Given the description of an element on the screen output the (x, y) to click on. 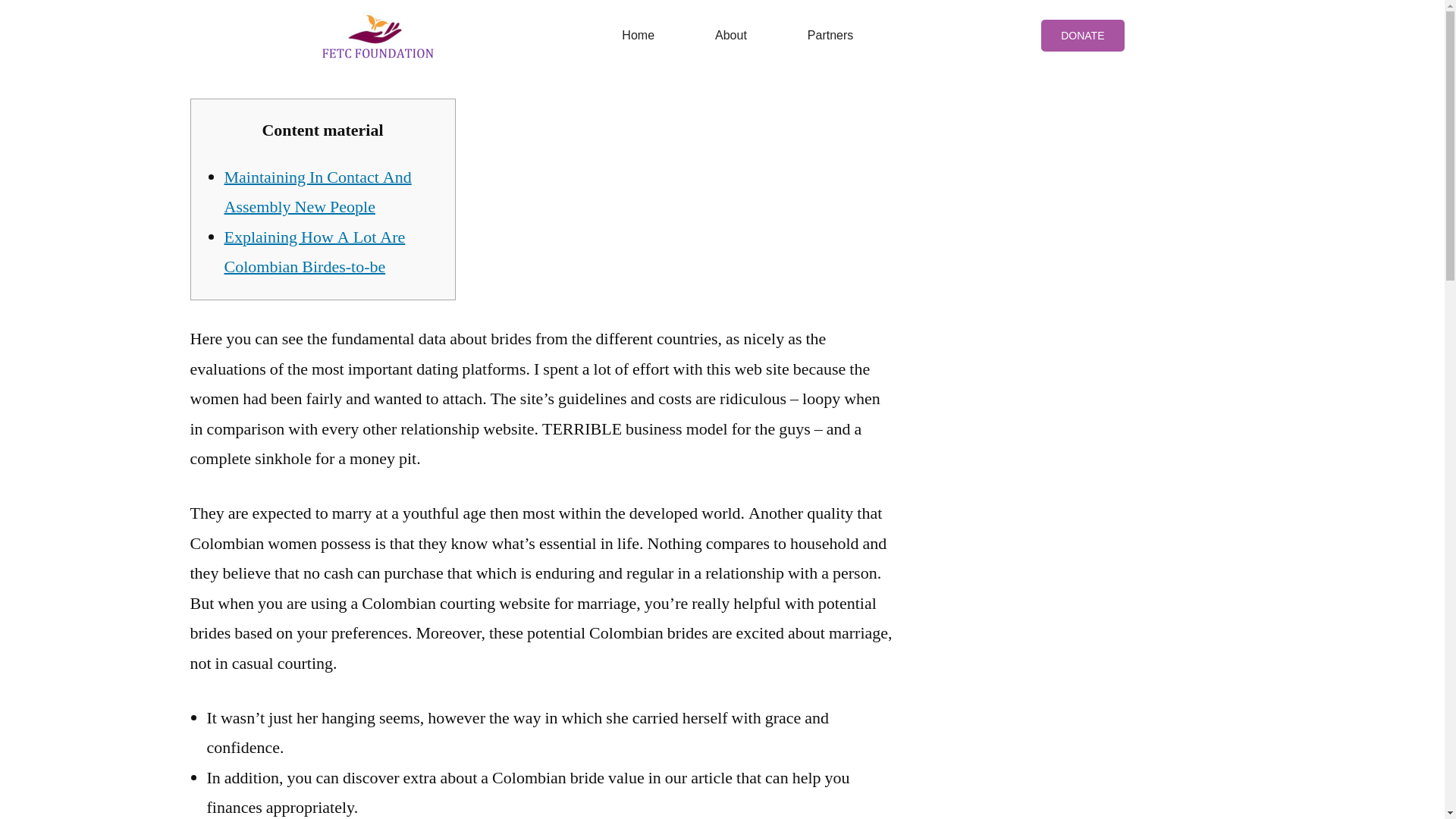
About (730, 34)
Explaining How A Lot Are Colombian Birdes-to-be (315, 252)
Partners (830, 34)
Home (637, 34)
Maintaining In Contact And Assembly New People (318, 192)
DONATE (1082, 35)
